Given the description of an element on the screen output the (x, y) to click on. 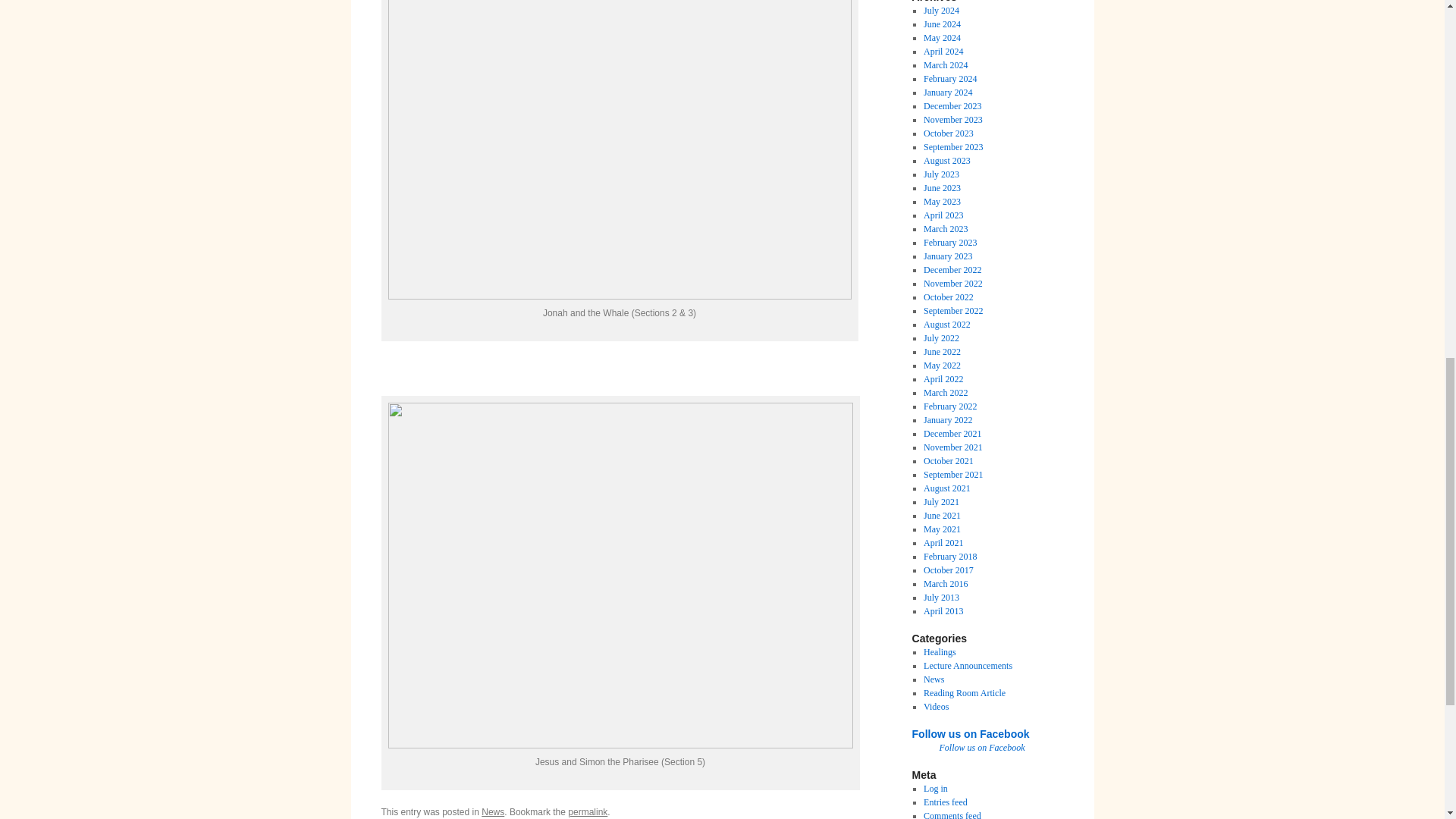
Permalink to Reading Room Article Week of April 26, 2021 (587, 811)
permalink (587, 811)
News (492, 811)
